Given the description of an element on the screen output the (x, y) to click on. 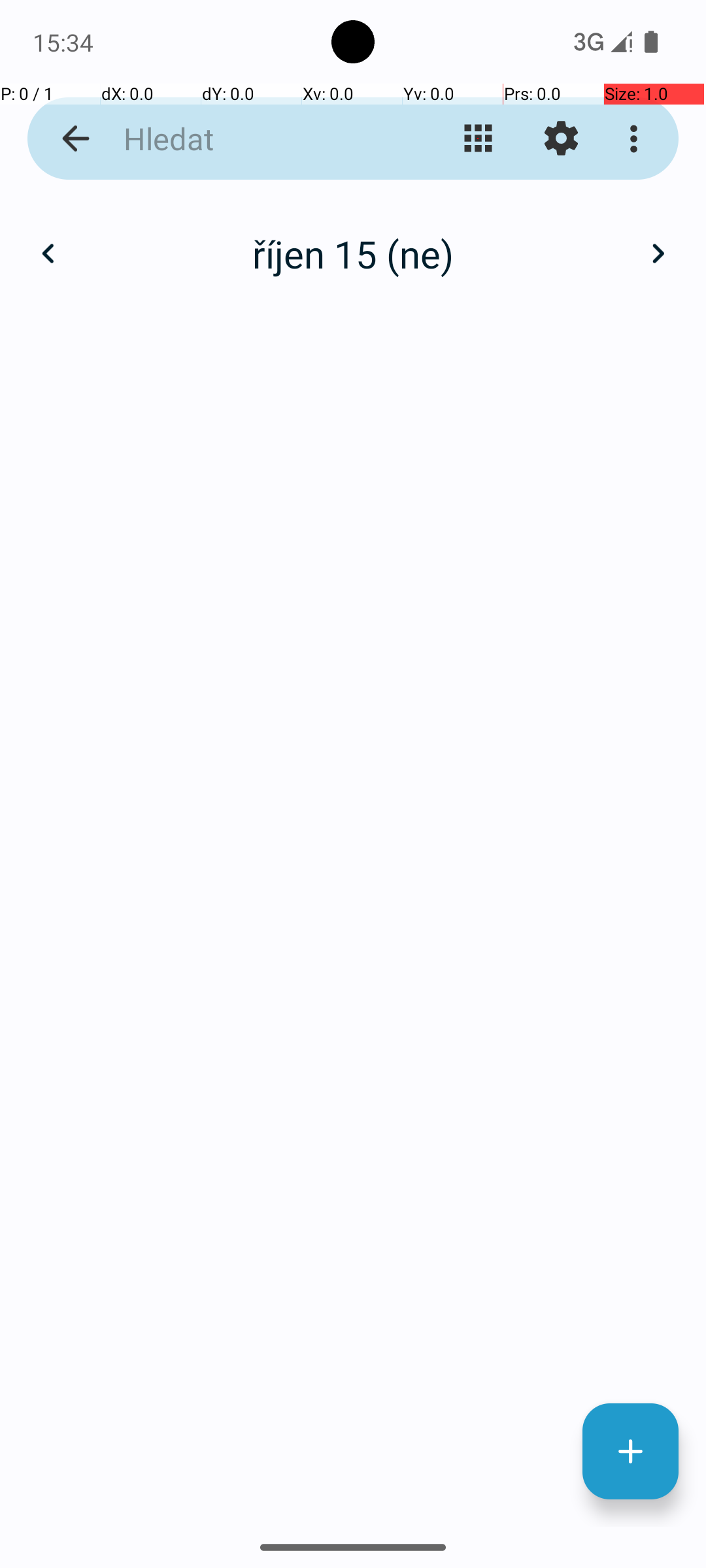
Nastavení Element type: android.widget.Button (560, 138)
listopad Element type: android.widget.TextView (352, 239)
říjen 15 (ne) Element type: android.widget.TextView (352, 253)
